Given the description of an element on the screen output the (x, y) to click on. 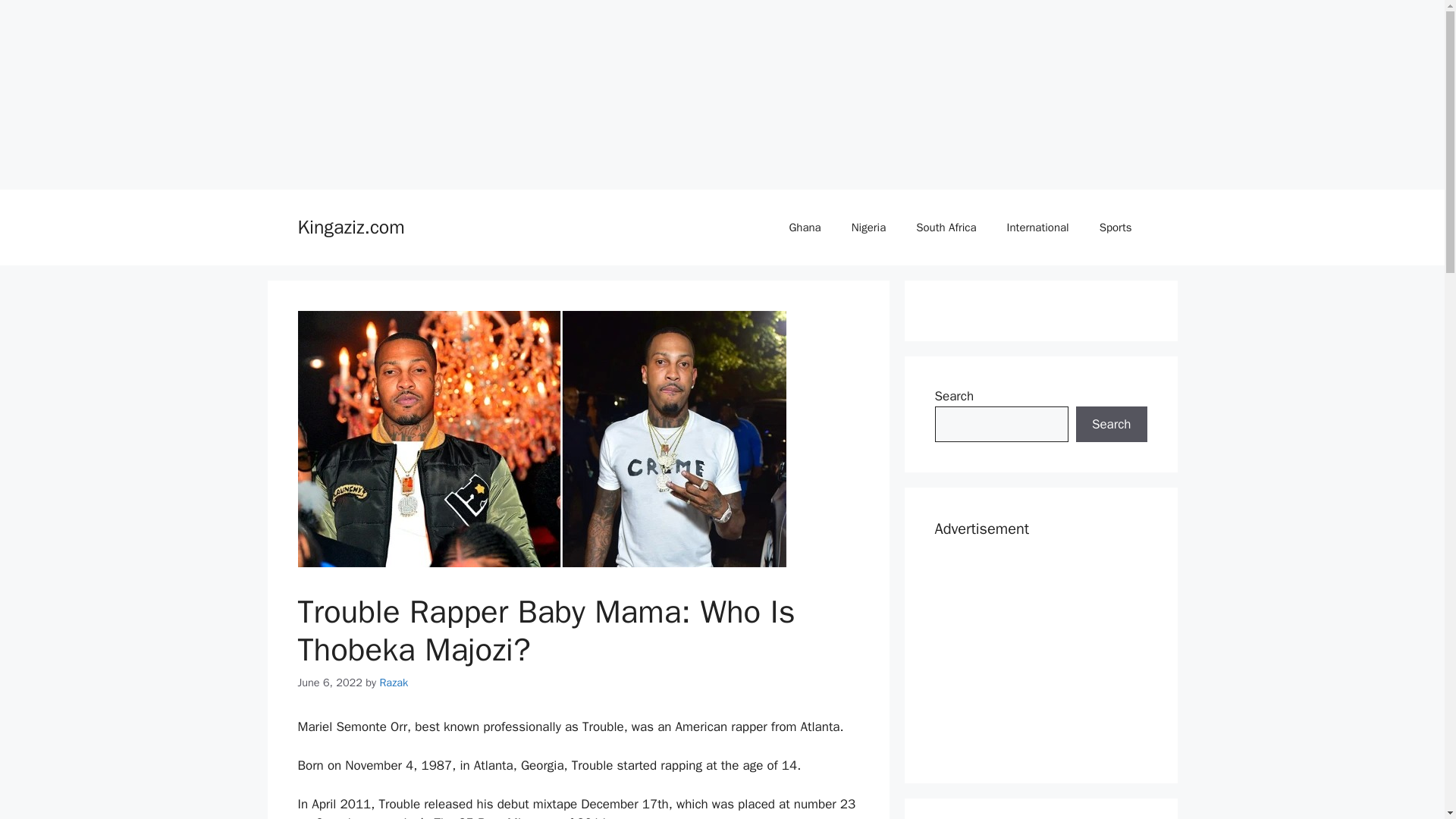
Sports (1115, 227)
International (1037, 227)
South Africa (946, 227)
Ghana (804, 227)
Razak (392, 682)
Nigeria (868, 227)
Kingaziz.com (350, 227)
View all posts by Razak (392, 682)
Search (1111, 424)
